Given the description of an element on the screen output the (x, y) to click on. 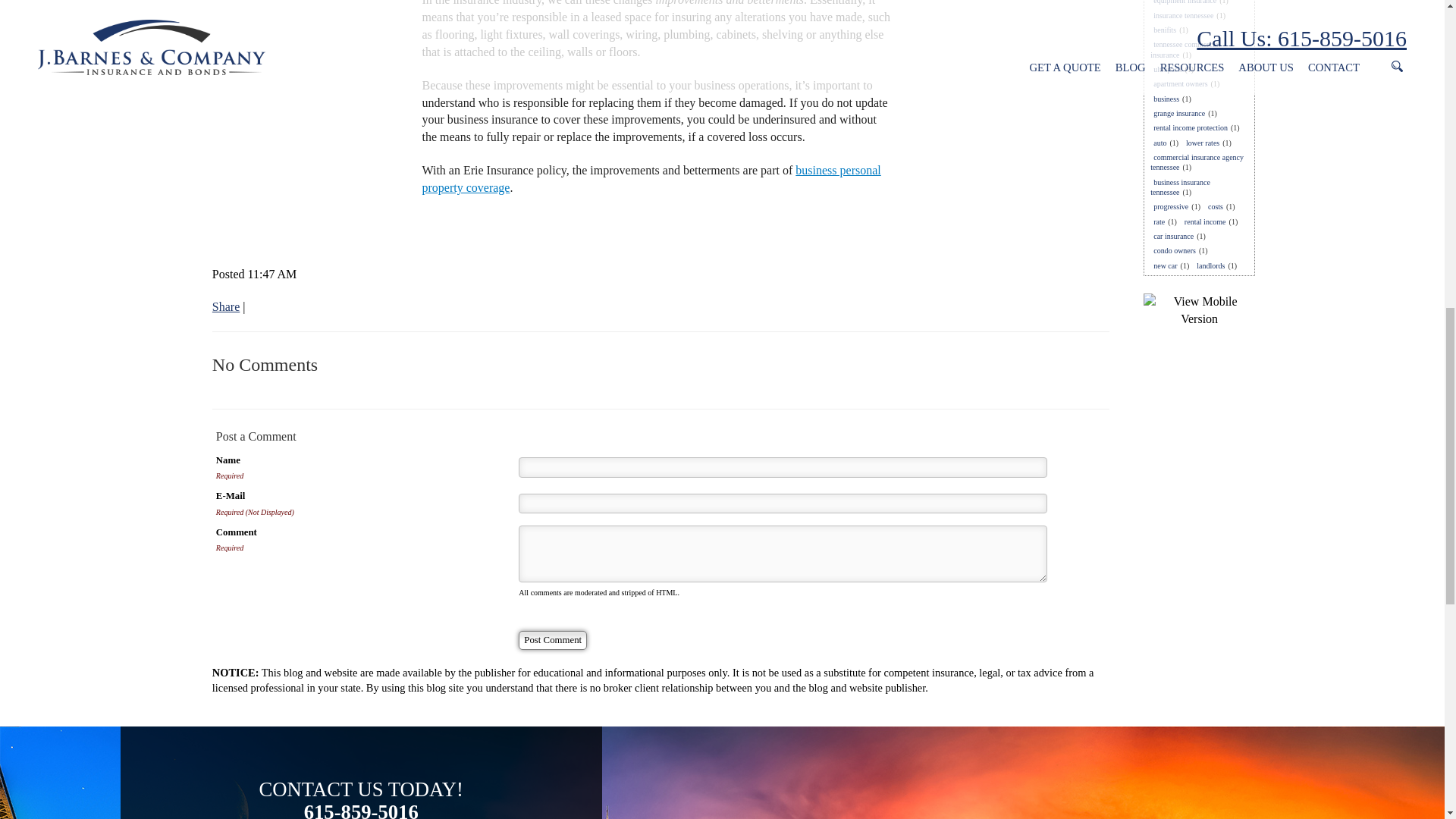
ultrapack (1167, 69)
benifits (1164, 30)
grange insurance (1179, 112)
tennessee commercial insurance (1185, 48)
Post Comment (552, 640)
rental income protection (1190, 127)
auto (1159, 142)
apartment owners (1179, 83)
business (1166, 98)
equipment insurance (1185, 2)
insurance tennessee (1182, 15)
